Given the description of an element on the screen output the (x, y) to click on. 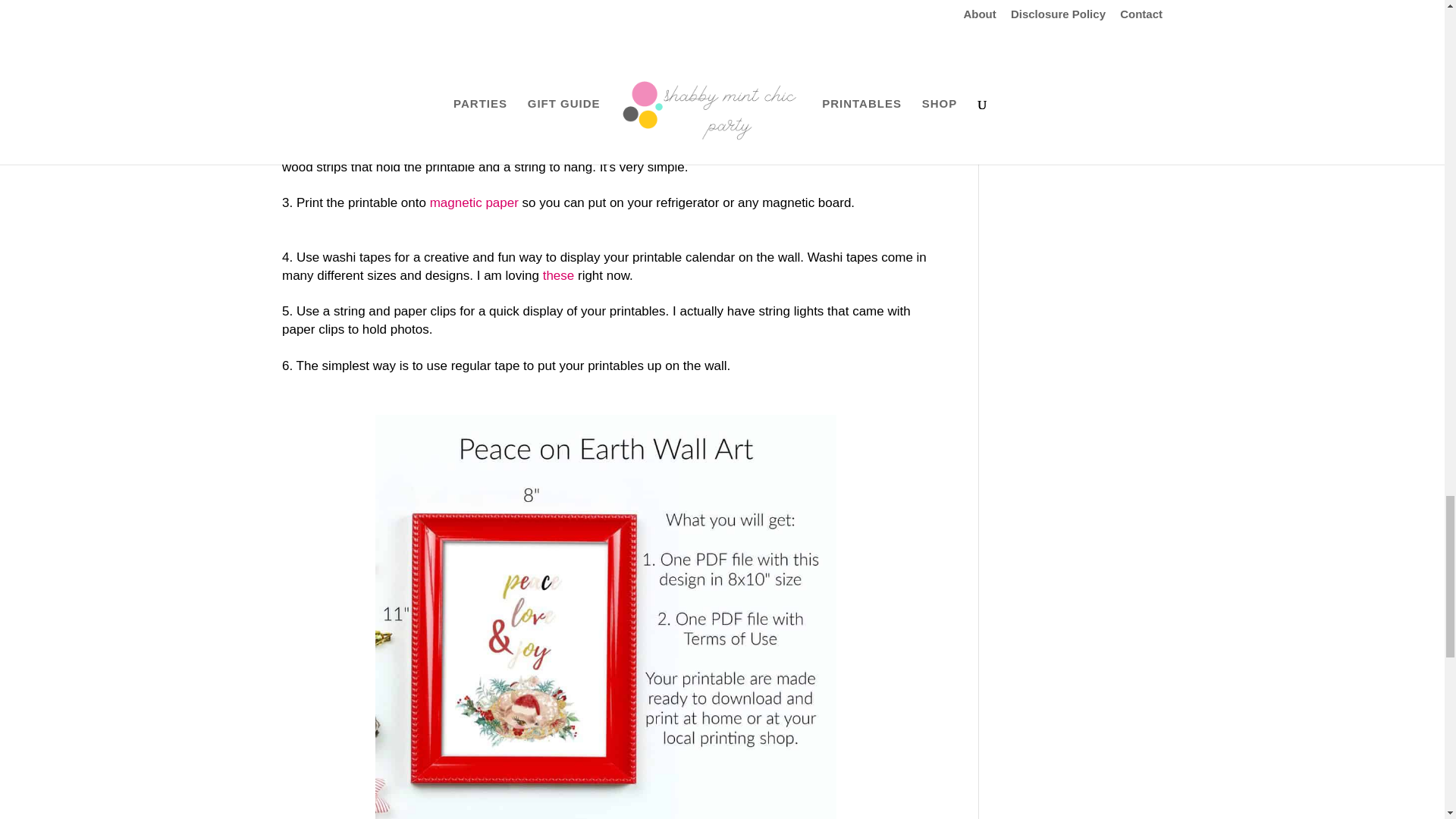
these (559, 275)
magnetic paper (473, 202)
magnetic poster hanger frames (411, 94)
beautiful frames (417, 58)
